Given the description of an element on the screen output the (x, y) to click on. 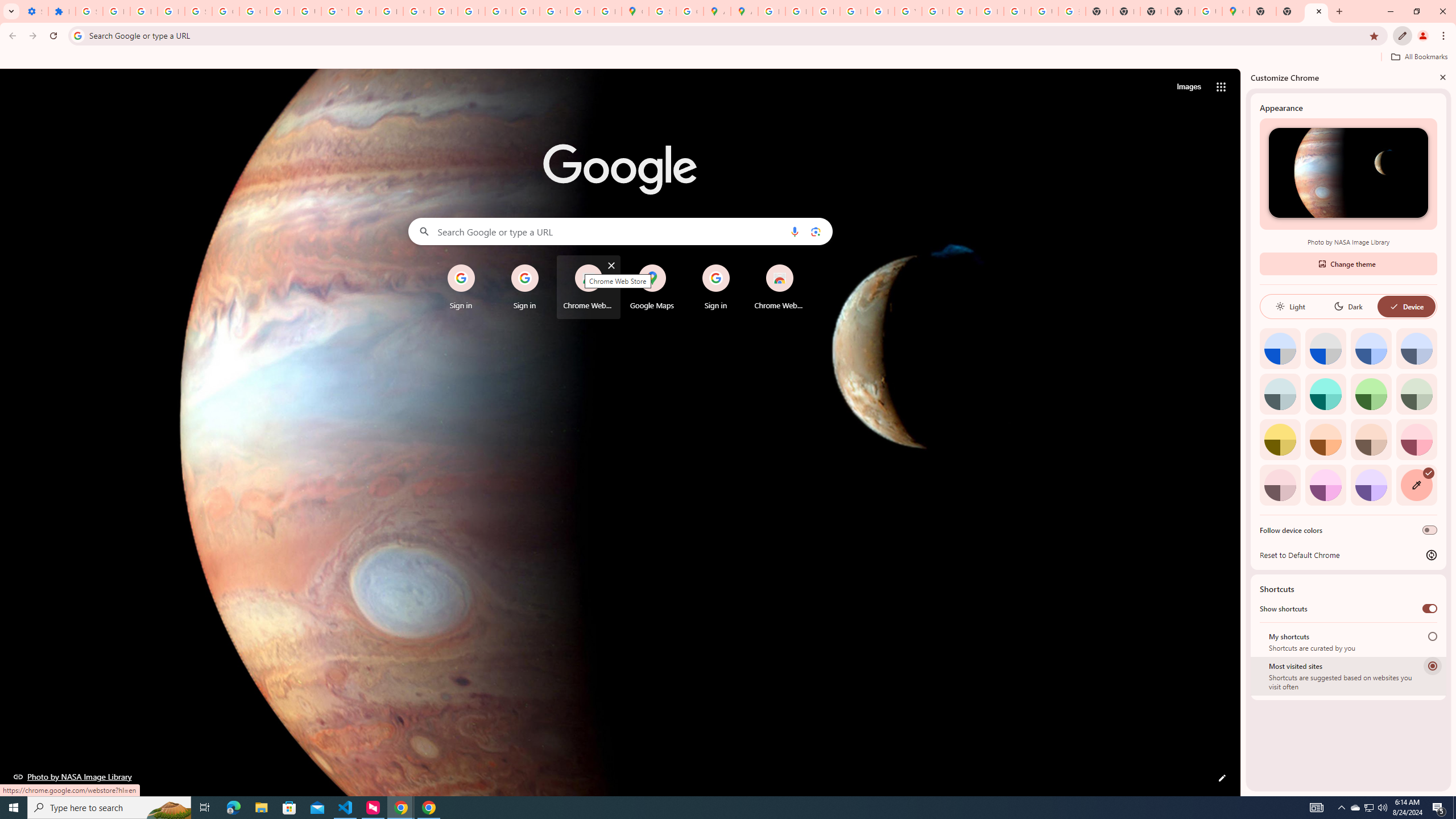
Google Maps (652, 287)
Customize this page (1221, 778)
Photo by NASA Image Library (72, 776)
Photo by NASA Image Library (1348, 172)
Citron (1279, 439)
Google Account Help (225, 11)
Cool grey (1416, 348)
